Given the description of an element on the screen output the (x, y) to click on. 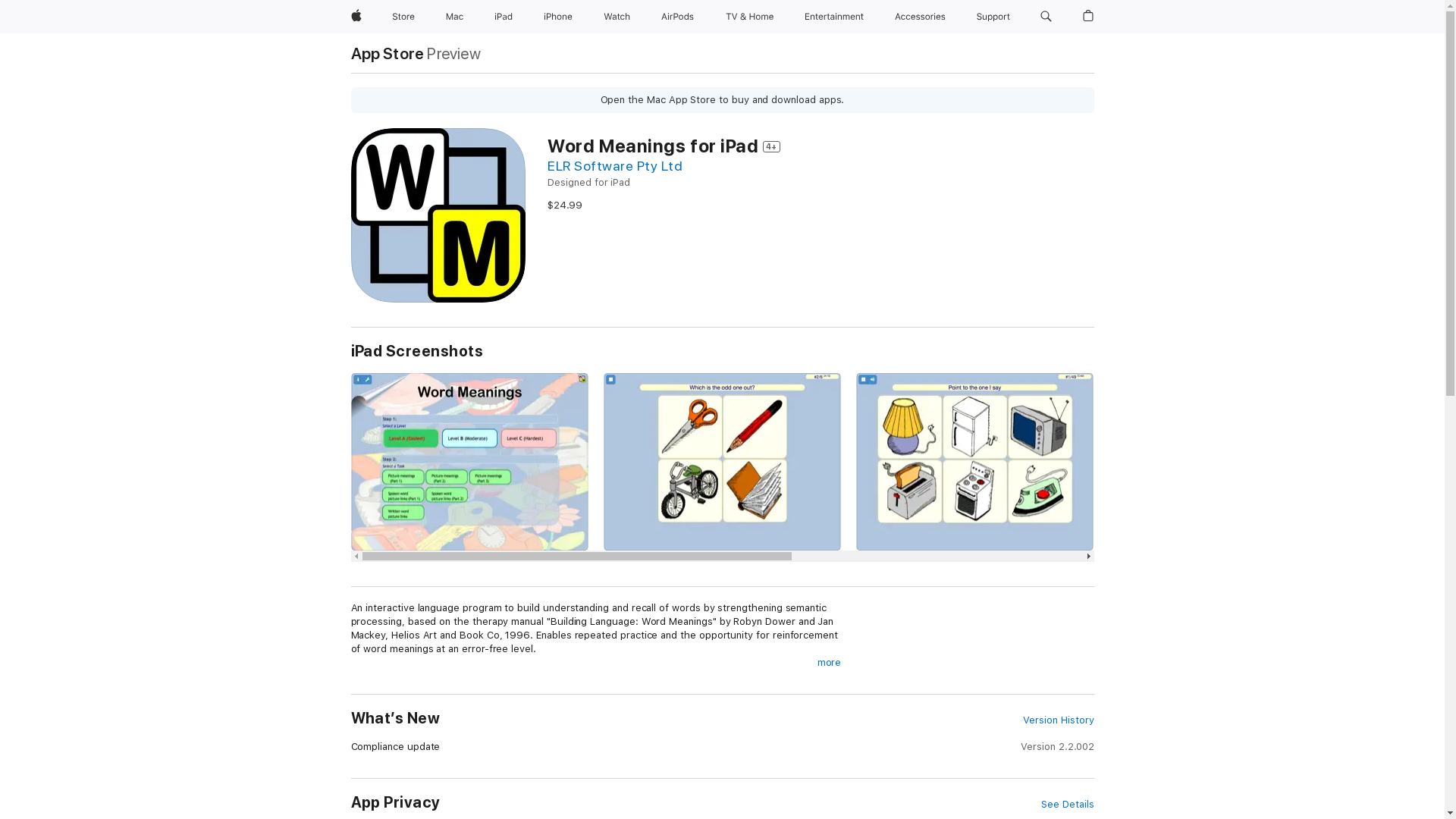
See Details Element type: text (1067, 804)
Support Element type: text (993, 16)
Watch Element type: text (616, 16)
Mac Element type: text (454, 16)
iPad Element type: text (503, 16)
TV & Home Element type: text (749, 16)
more Element type: text (829, 662)
Apple Element type: text (355, 16)
Store Element type: text (402, 16)
AirPods Element type: text (677, 16)
Version History Element type: text (1057, 720)
Accessories Element type: text (919, 16)
ELR Software Pty Ltd Element type: text (614, 165)
iPhone Element type: text (557, 16)
App Store Element type: text (386, 53)
Entertainment Element type: text (834, 16)
